Given the description of an element on the screen output the (x, y) to click on. 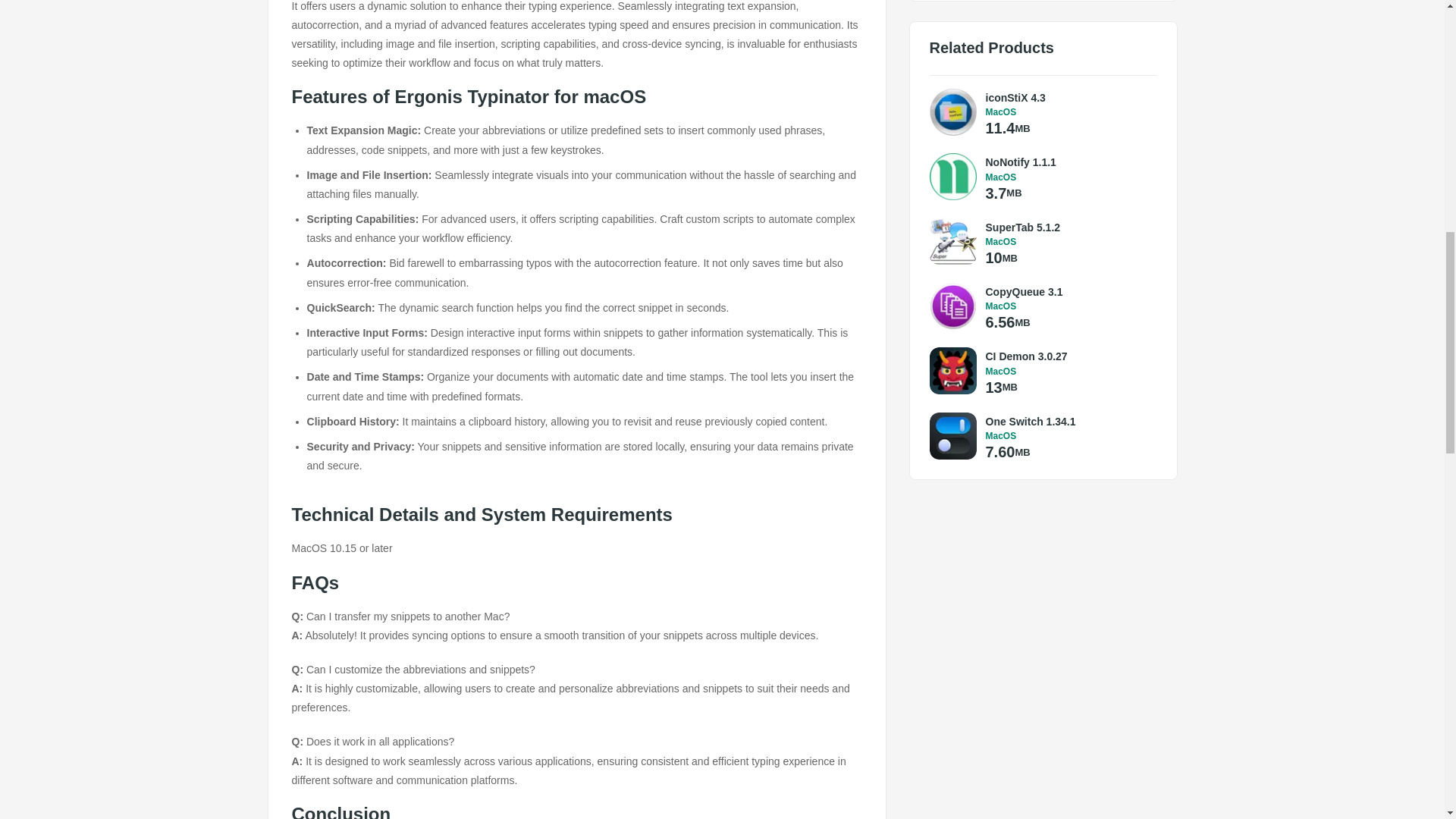
MacOS (1067, 112)
CopyQueue 3.1 (1067, 291)
MacOS (1067, 435)
One Switch 1.34.1 (1067, 421)
MacOS (1067, 306)
iconStiX 4.3 (1067, 97)
NoNotify 1.1.1 (1067, 161)
MacOS (1067, 370)
MacOS (1067, 176)
SuperTab 5.1.2 (1067, 227)
MacOS (1067, 241)
CI Demon 3.0.27 (1067, 356)
